Given the description of an element on the screen output the (x, y) to click on. 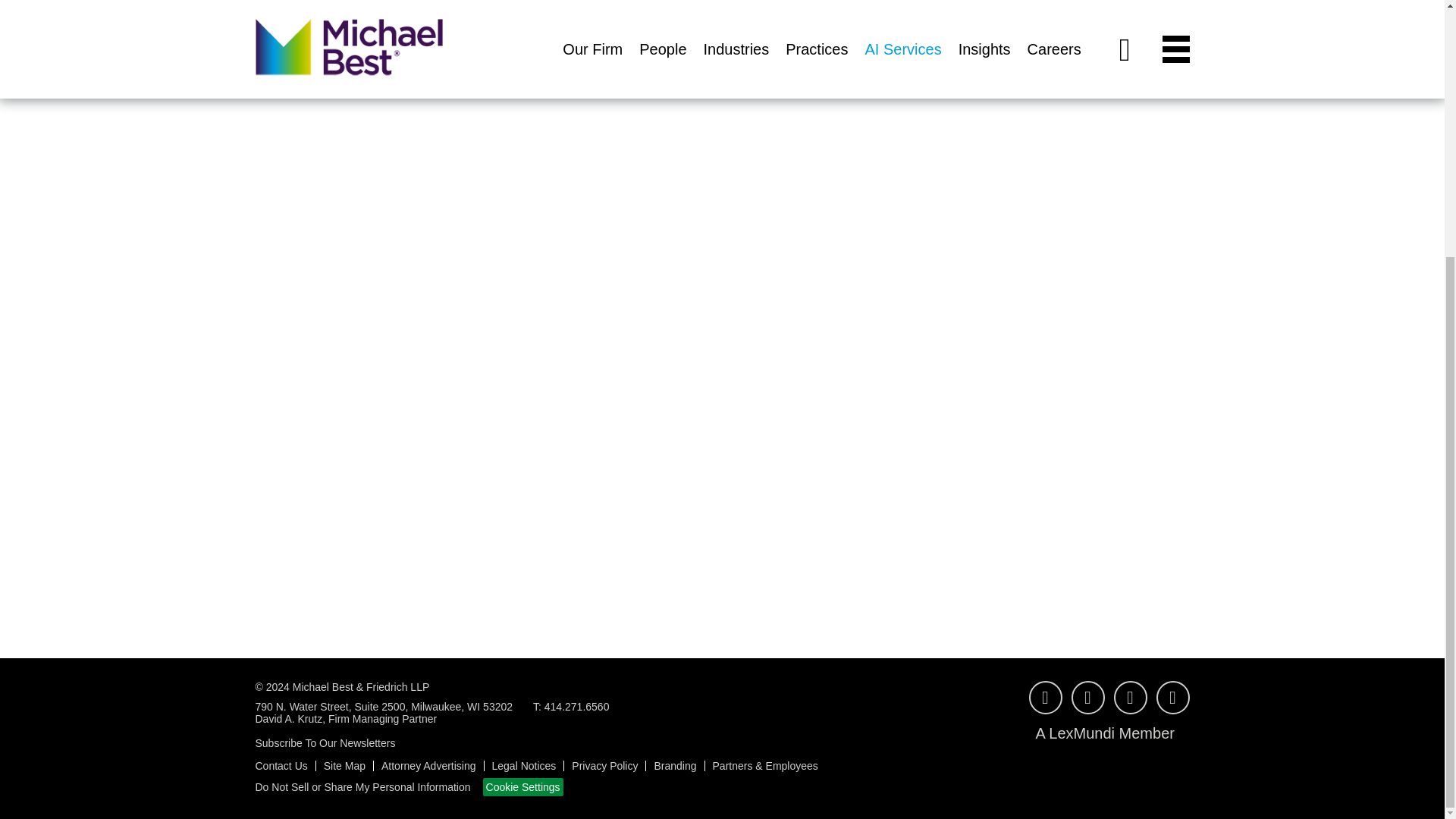
Facebook (1086, 697)
Twitter (1172, 697)
YouTube (1044, 697)
LinkedIn (1130, 697)
